Given the description of an element on the screen output the (x, y) to click on. 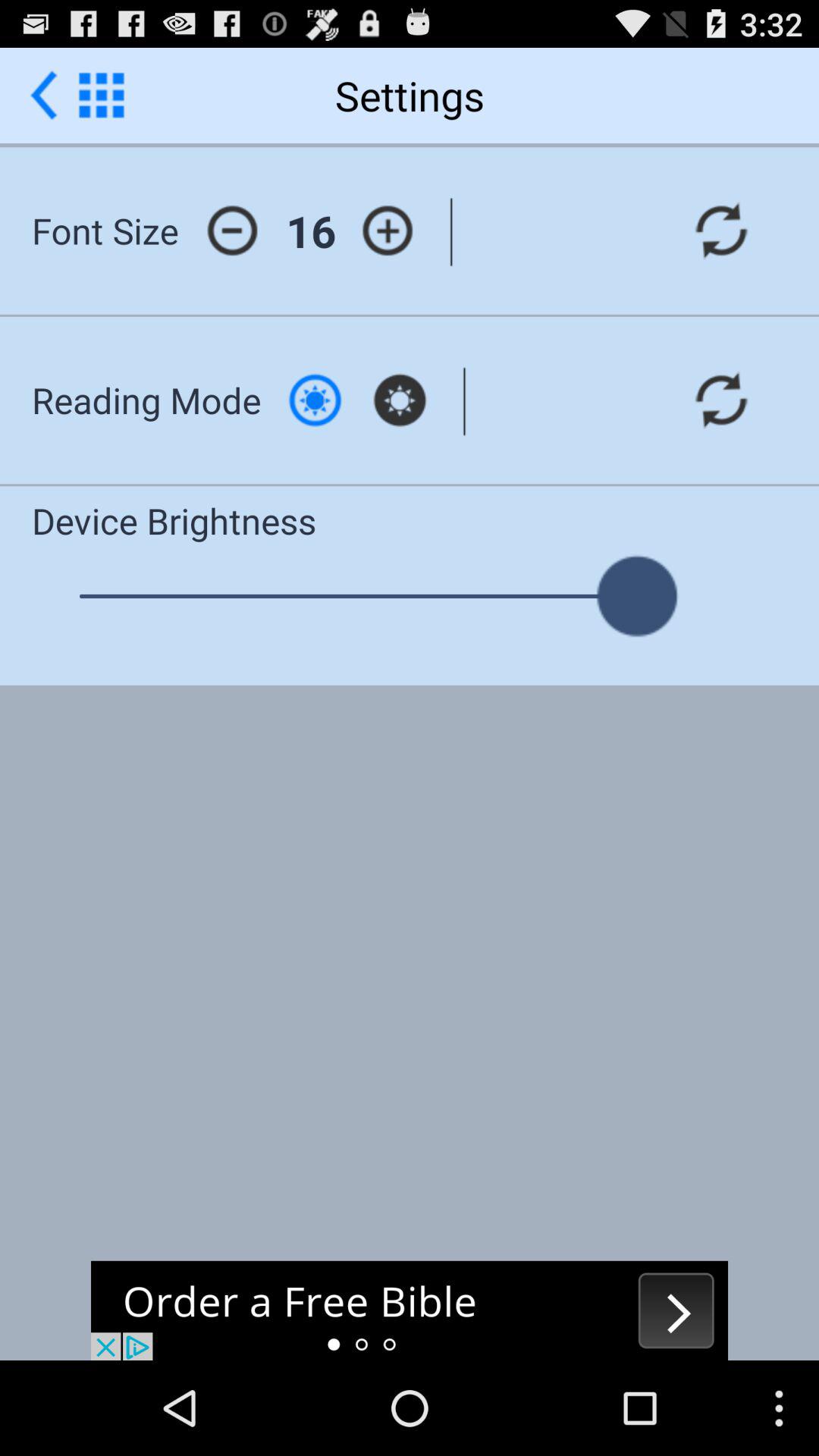
reduce font size (232, 230)
